Given the description of an element on the screen output the (x, y) to click on. 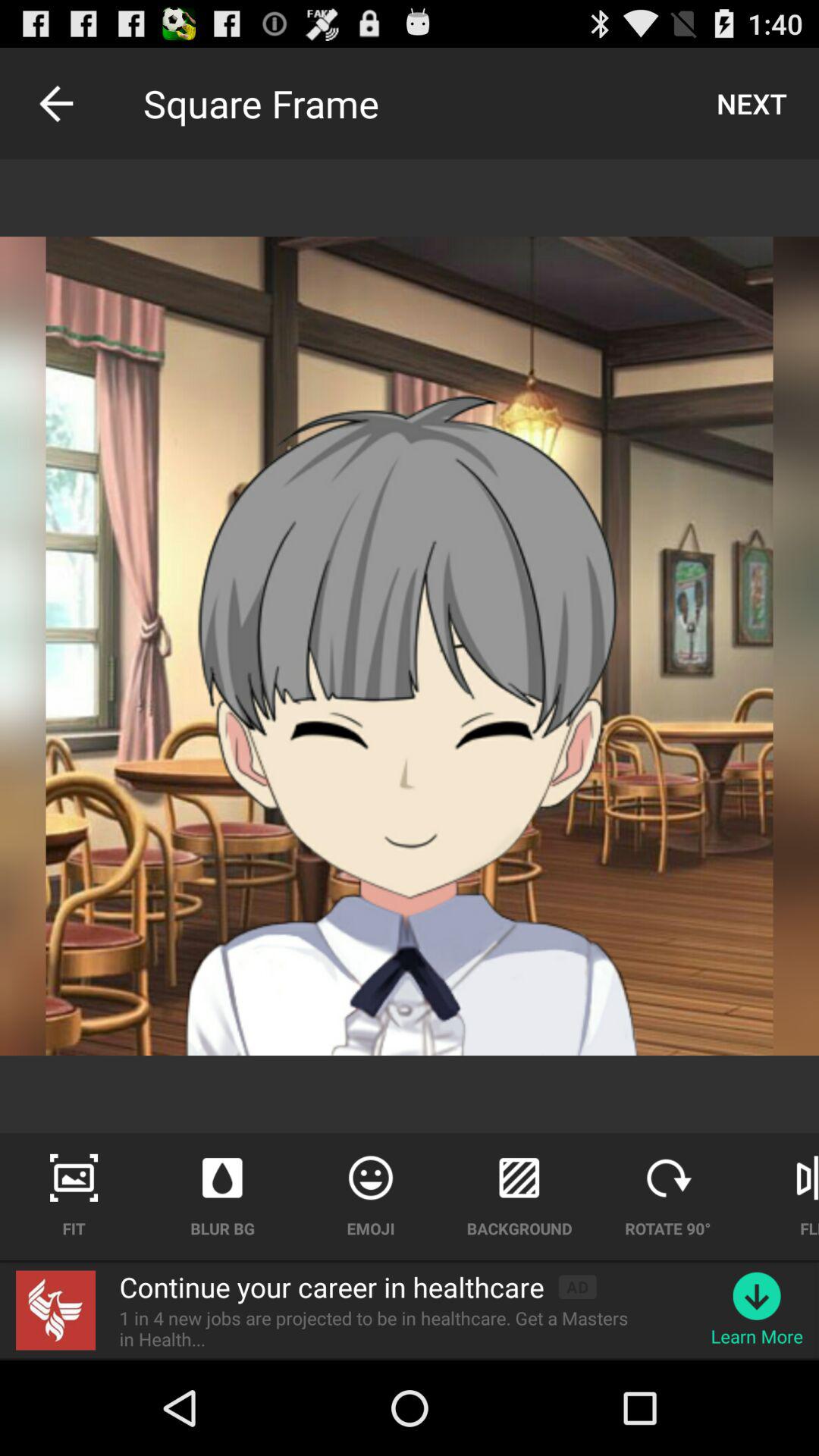
turn off the item to the right of the continue your career item (577, 1287)
